Given the description of an element on the screen output the (x, y) to click on. 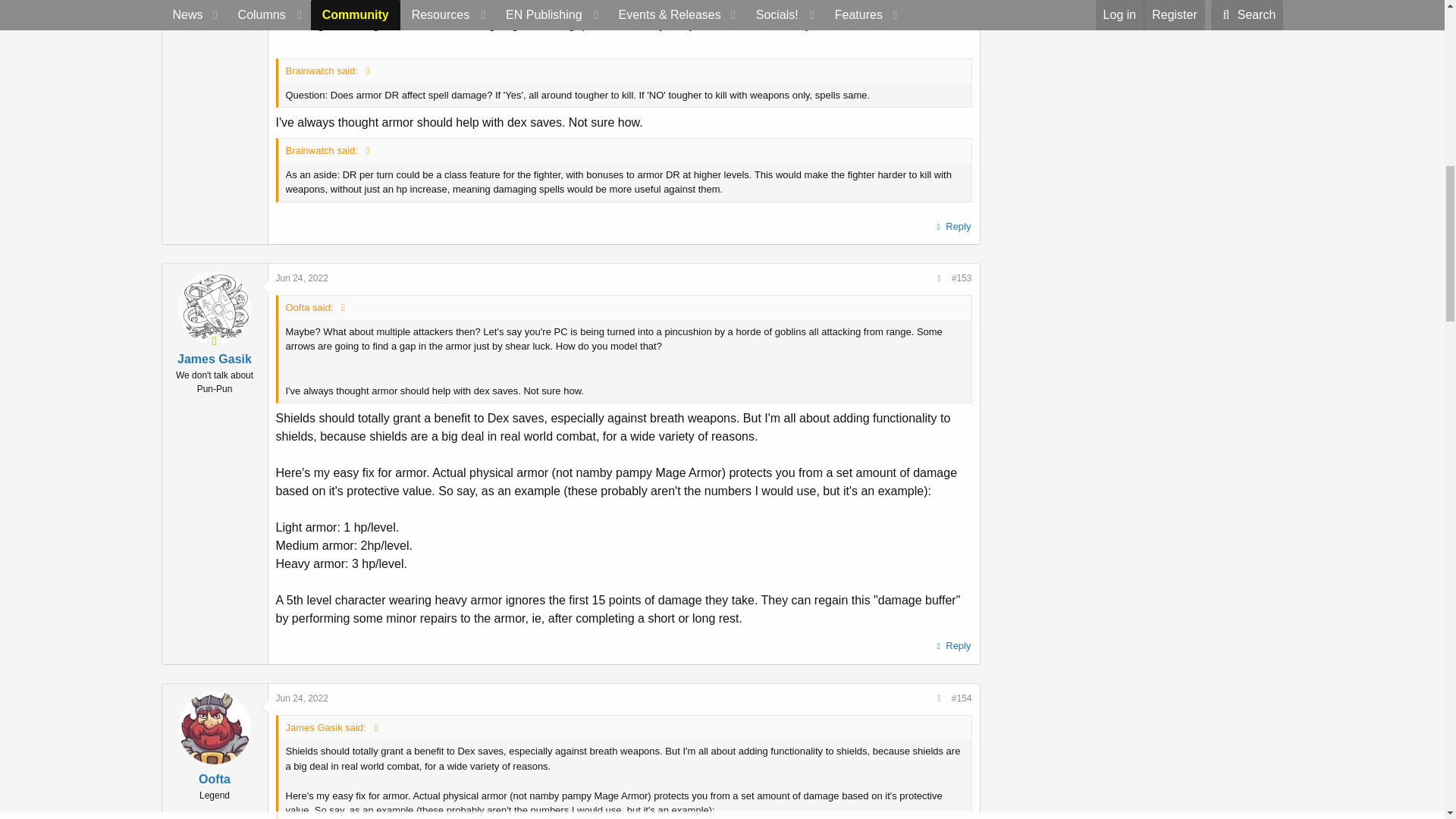
Reply, quoting this message (952, 226)
Reply, quoting this message (952, 645)
Jun 24, 2022 at 5:51 PM (302, 277)
Jun 24, 2022 at 7:05 PM (302, 697)
